Given the description of an element on the screen output the (x, y) to click on. 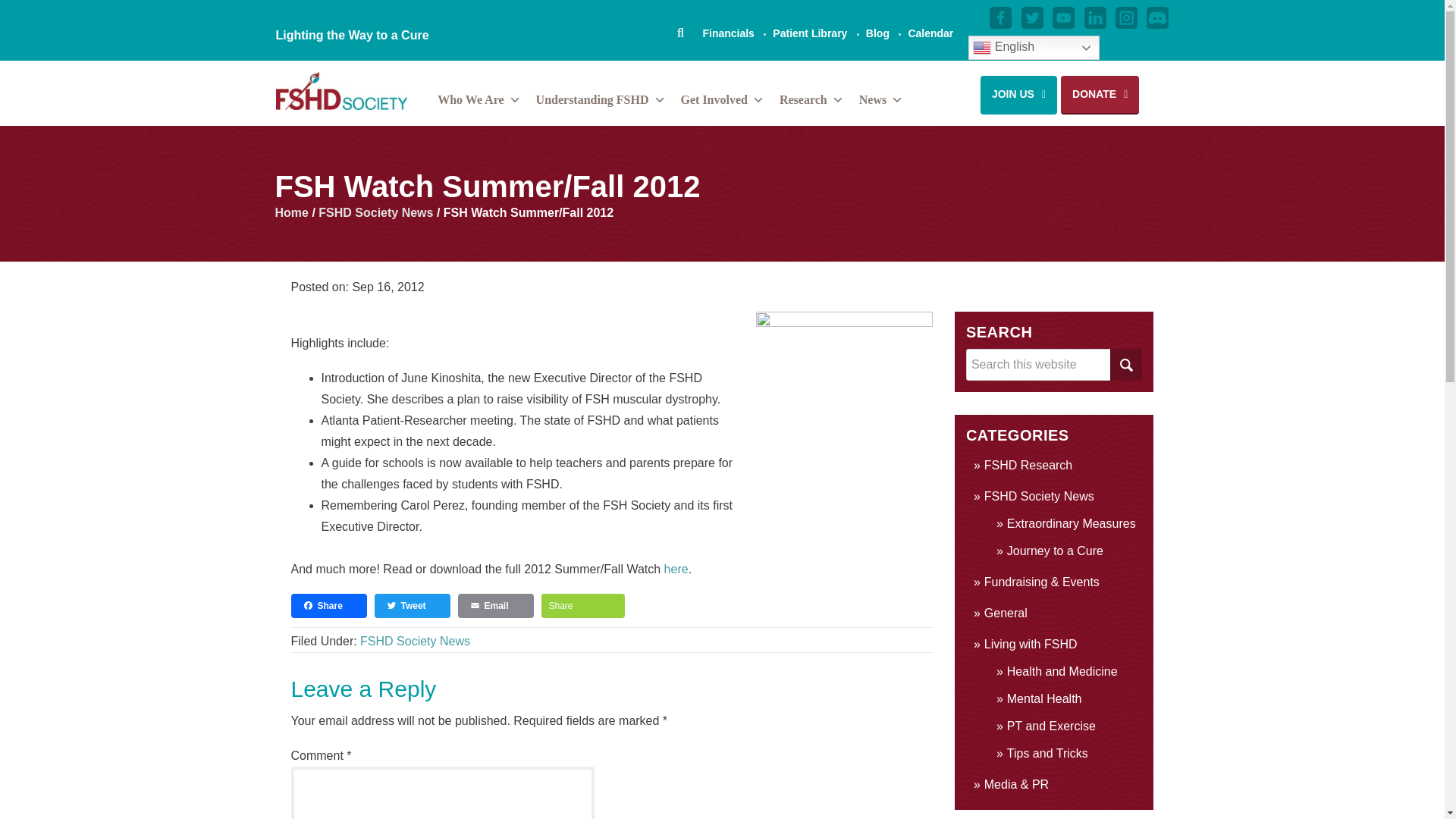
Blog (877, 33)
English (1033, 47)
Search (1125, 364)
Calendar (930, 33)
Search (1125, 364)
Patient Library (810, 33)
Financials (727, 33)
Who We Are (478, 102)
